Given the description of an element on the screen output the (x, y) to click on. 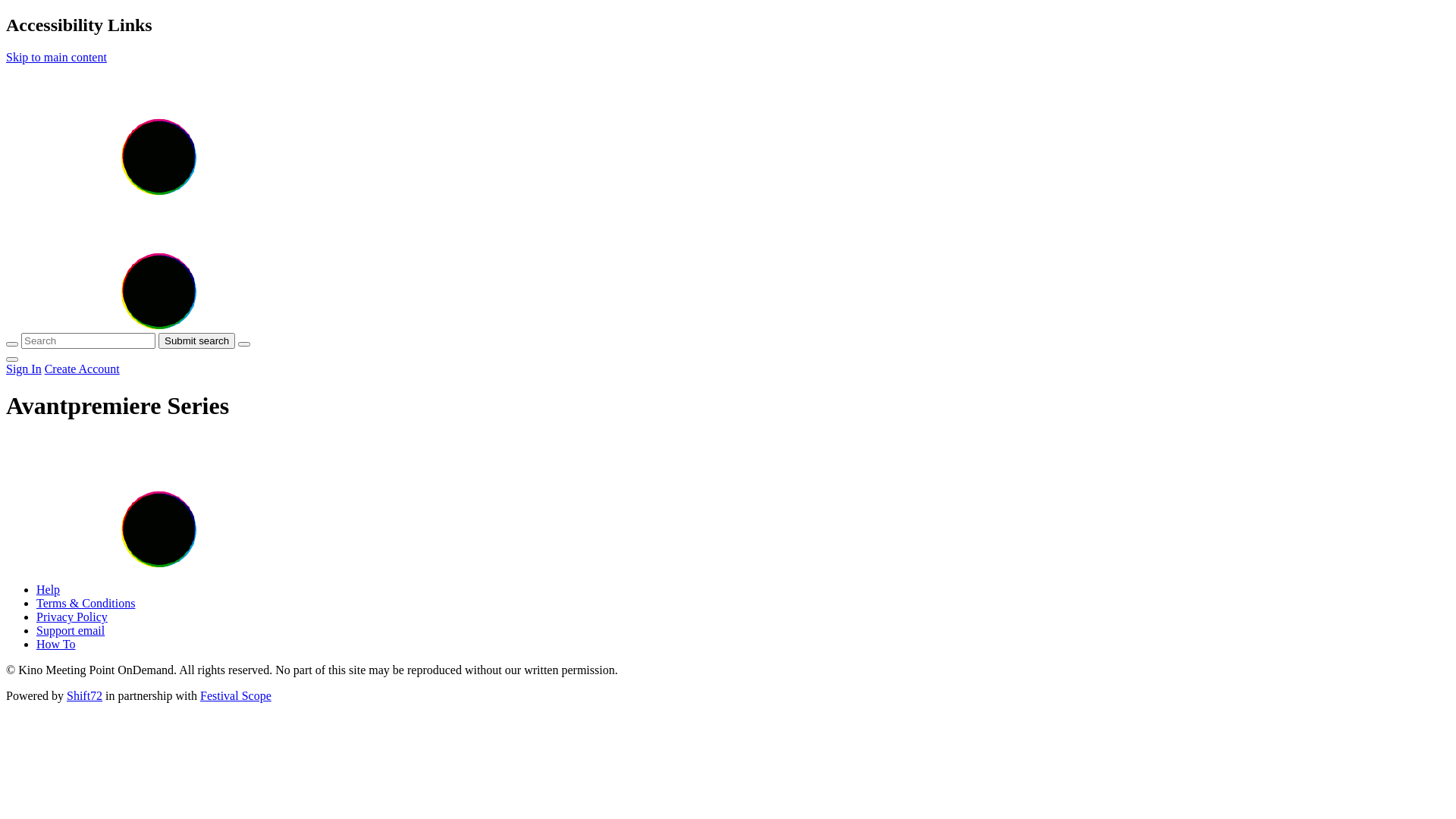
Shift72 Element type: text (84, 695)
How To Element type: text (55, 643)
Create Account Element type: text (81, 368)
Help Element type: text (47, 589)
Festival Scope Element type: text (235, 695)
Submit search Element type: text (196, 340)
Skip to main content Element type: text (56, 56)
Sign In Element type: text (23, 368)
Terms & Conditions Element type: text (85, 602)
Support email Element type: text (70, 630)
Privacy Policy Element type: text (71, 616)
